Given the description of an element on the screen output the (x, y) to click on. 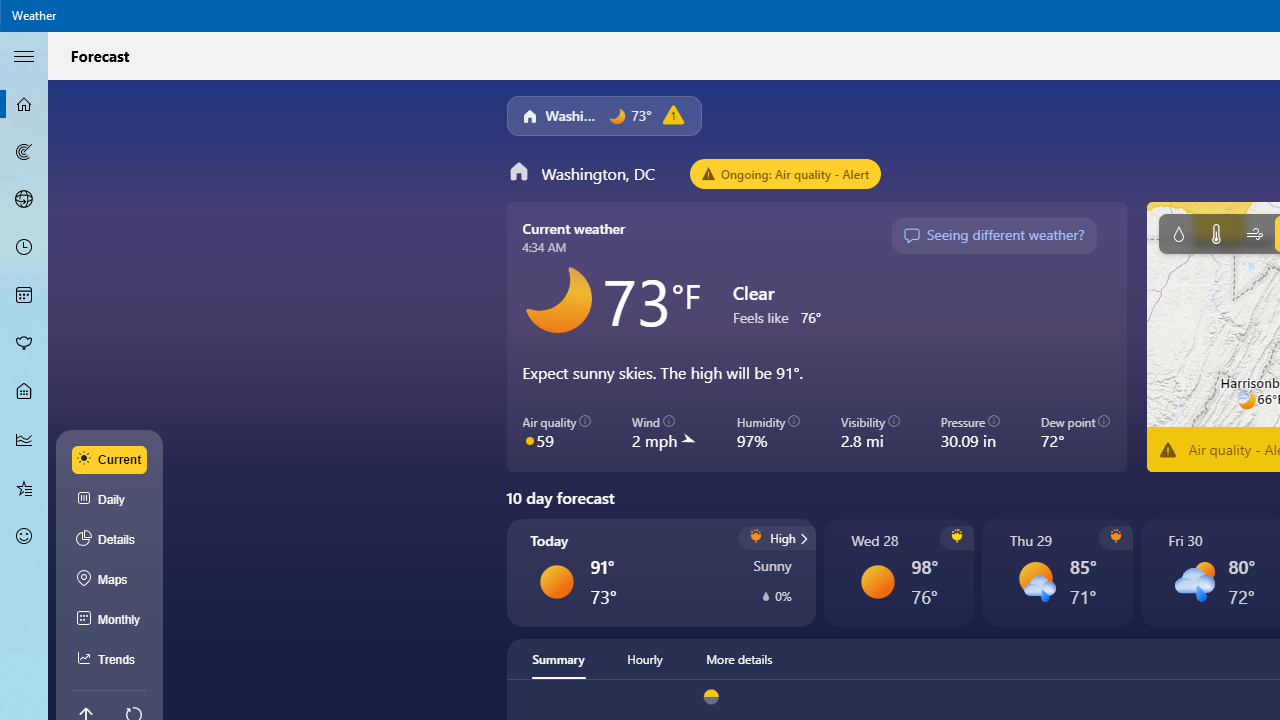
Historical Weather - Not Selected (24, 439)
Monthly Forecast - Not Selected (24, 295)
Forecast - Not Selected (24, 103)
Forecast - Not Selected (24, 103)
Pollen - Not Selected (24, 343)
Collapse Navigation (24, 55)
